Given the description of an element on the screen output the (x, y) to click on. 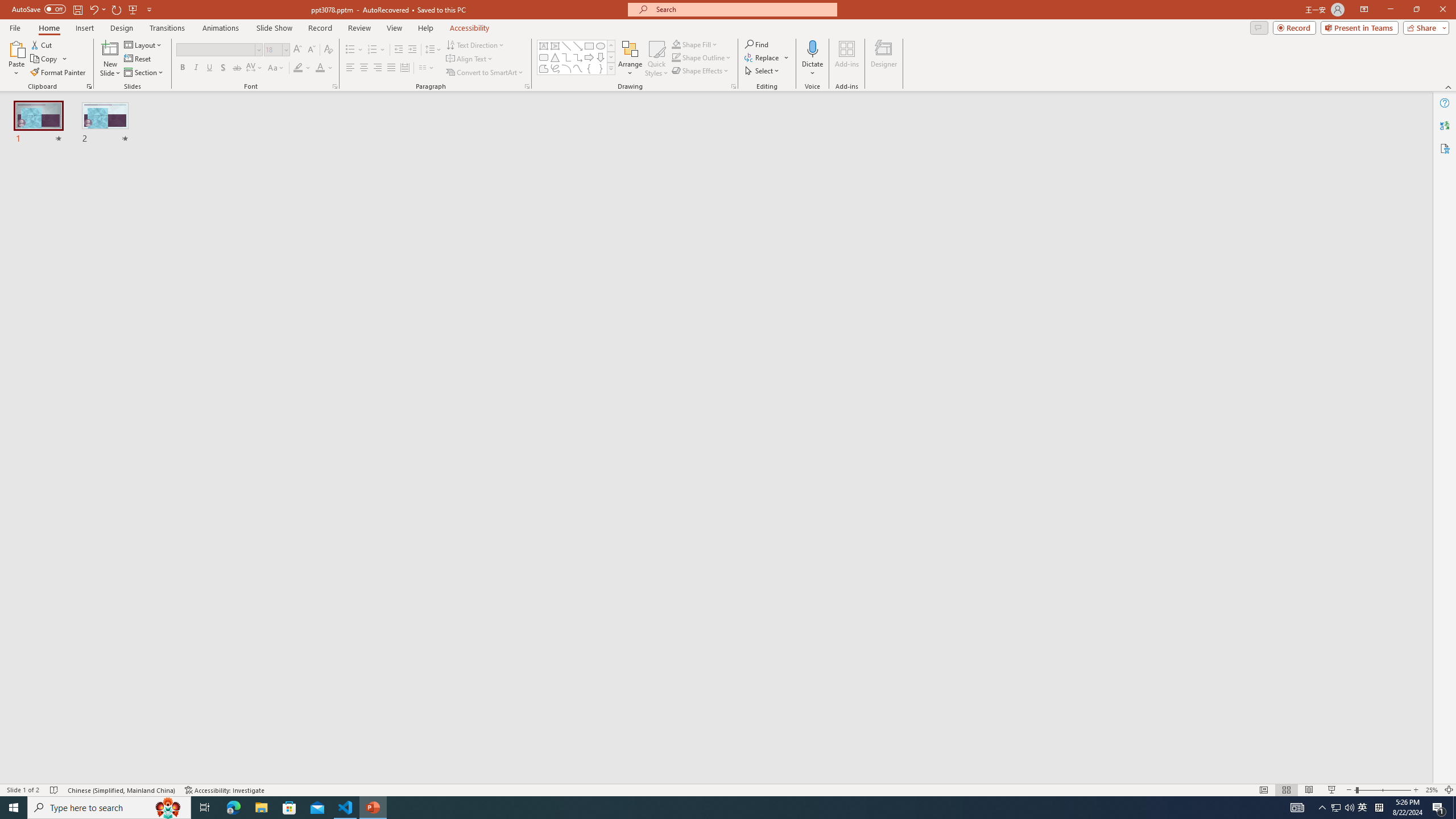
Transformer Circuits Thread (713, 78)
Ports - 5 forwarded ports (661, 212)
Explorer actions (221, 183)
Class: actions-container (1021, 183)
Problems (Ctrl+Shift+M) (323, 183)
WebIDE (486, 114)
Forwarded Ports: 36301, 47065, 38781, 45817, 50331 (175, 766)
Ports - 5 forwarded ports Ports - 5 forwarded ports (660, 183)
